Given the description of an element on the screen output the (x, y) to click on. 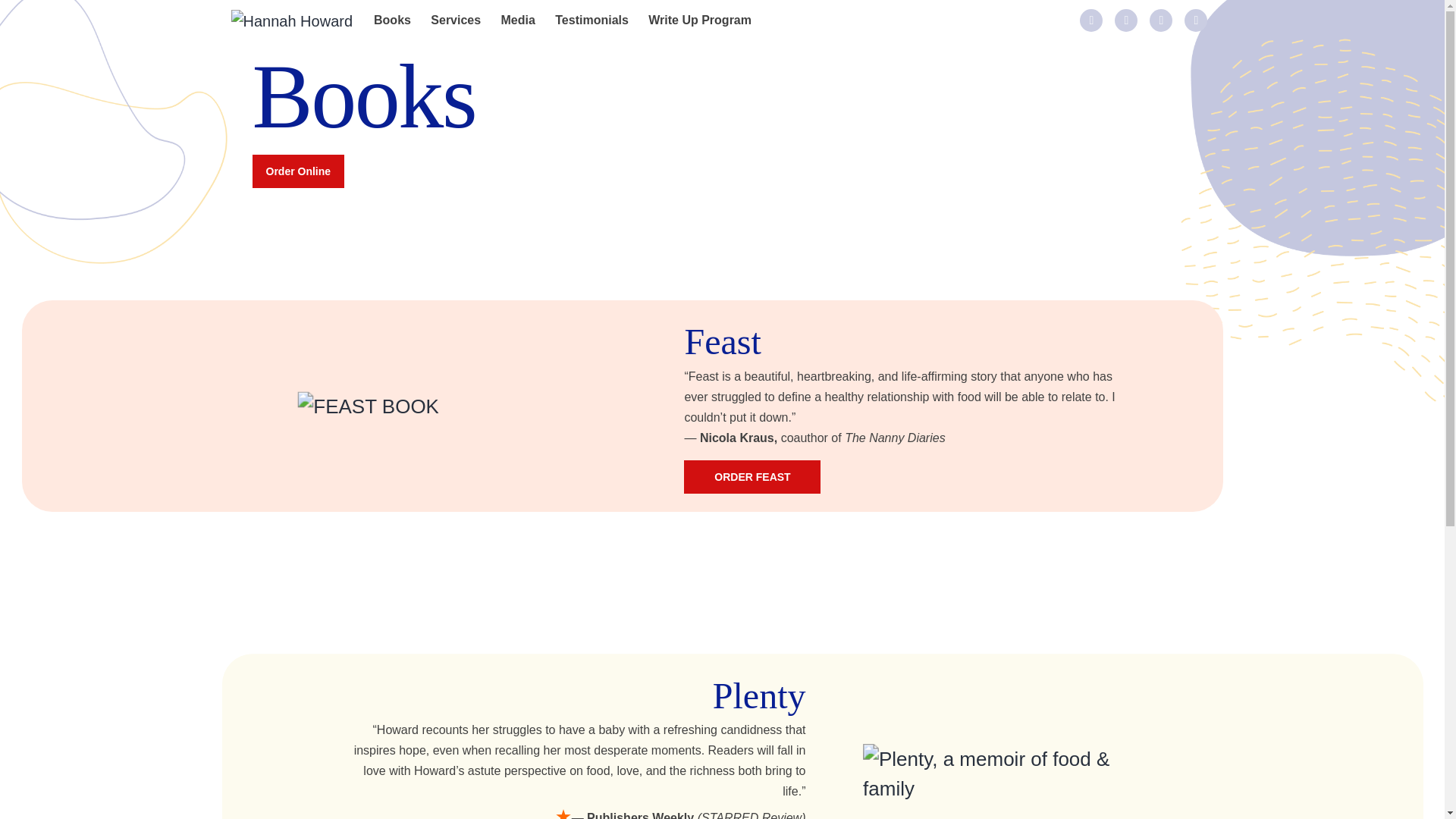
Books (392, 20)
Services (455, 20)
Testimonials (591, 20)
Media (517, 20)
Write Up Program (700, 20)
Order Online (297, 171)
ORDER FEAST (752, 476)
